Given the description of an element on the screen output the (x, y) to click on. 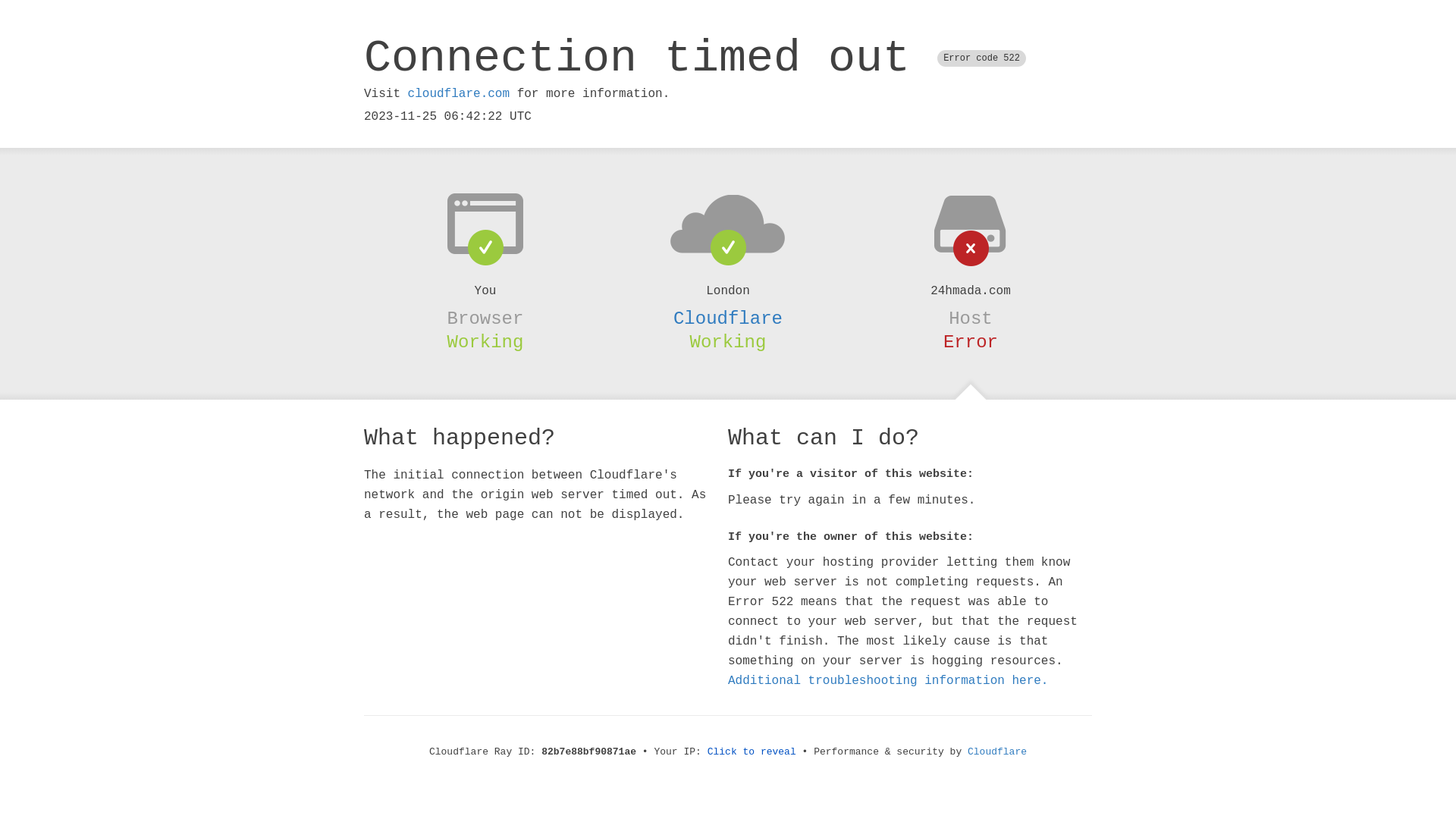
cloudflare.com Element type: text (458, 93)
Additional troubleshooting information here. Element type: text (888, 680)
Click to reveal Element type: text (751, 751)
Cloudflare Element type: text (996, 751)
Cloudflare Element type: text (727, 318)
